Given the description of an element on the screen output the (x, y) to click on. 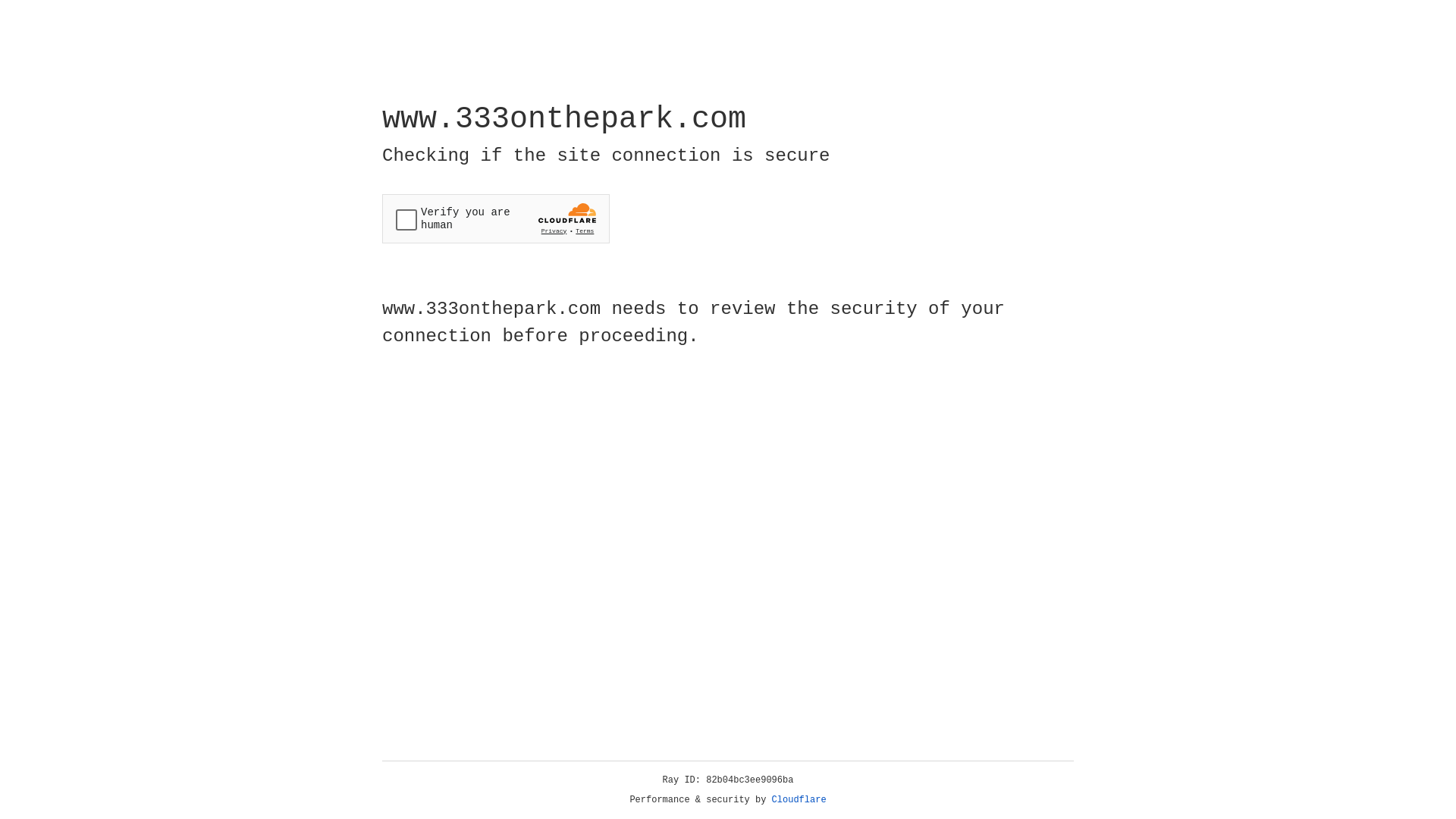
Widget containing a Cloudflare security challenge Element type: hover (495, 218)
Cloudflare Element type: text (798, 799)
